Given the description of an element on the screen output the (x, y) to click on. 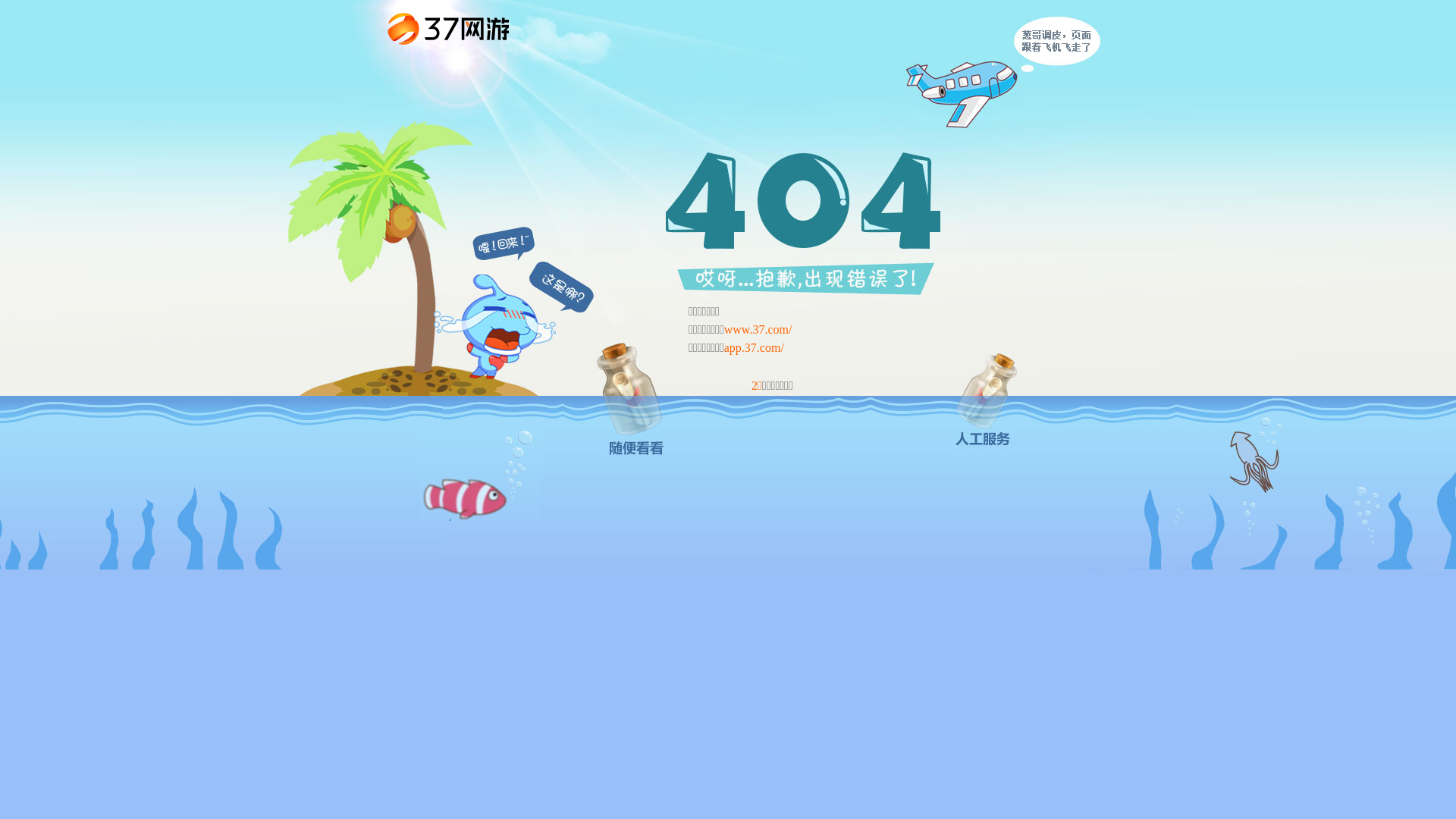
www.37.com/ Element type: text (758, 329)
app.37.com/ Element type: text (754, 347)
